Given the description of an element on the screen output the (x, y) to click on. 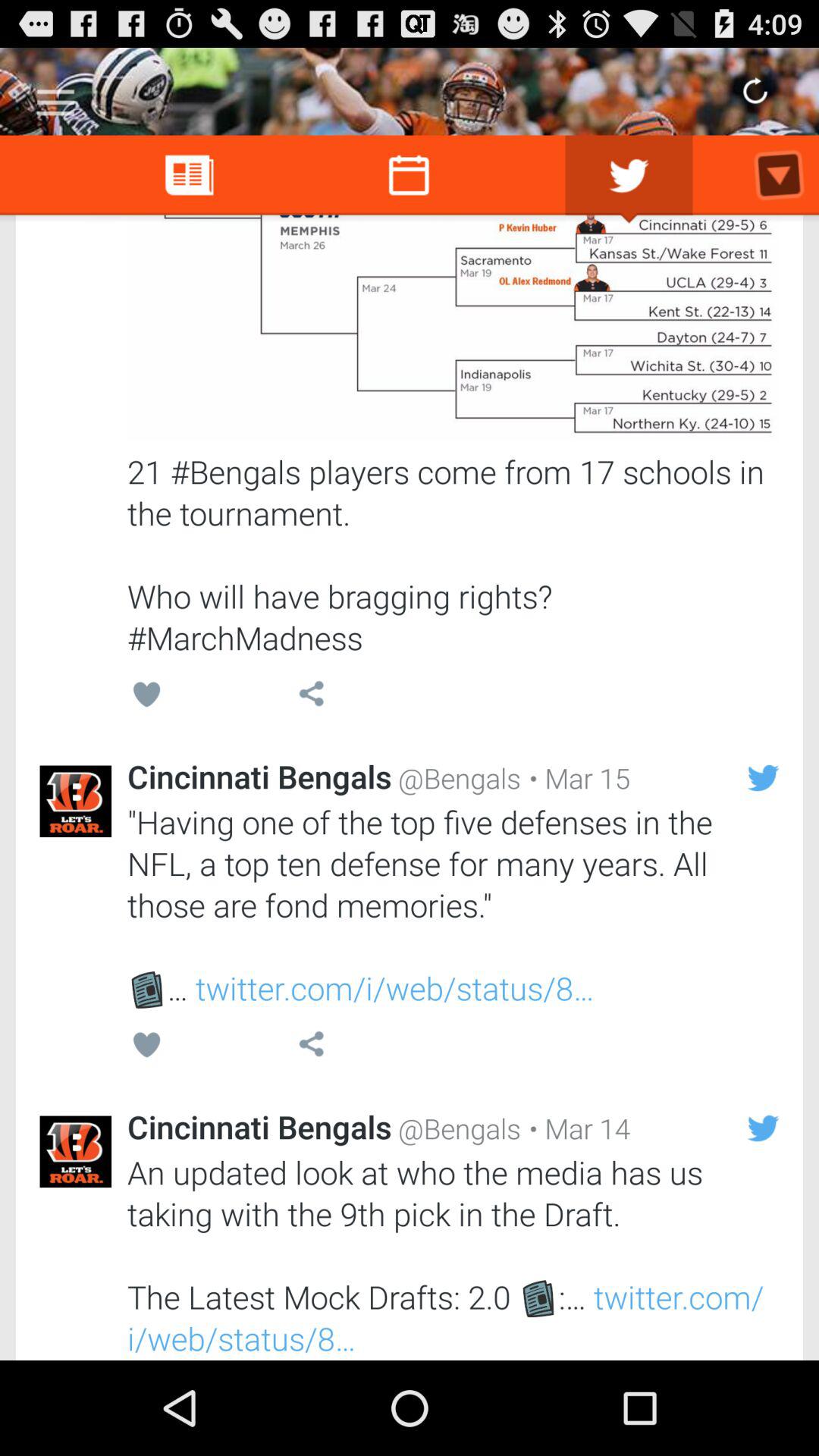
swipe until the an updated look icon (453, 1254)
